Given the description of an element on the screen output the (x, y) to click on. 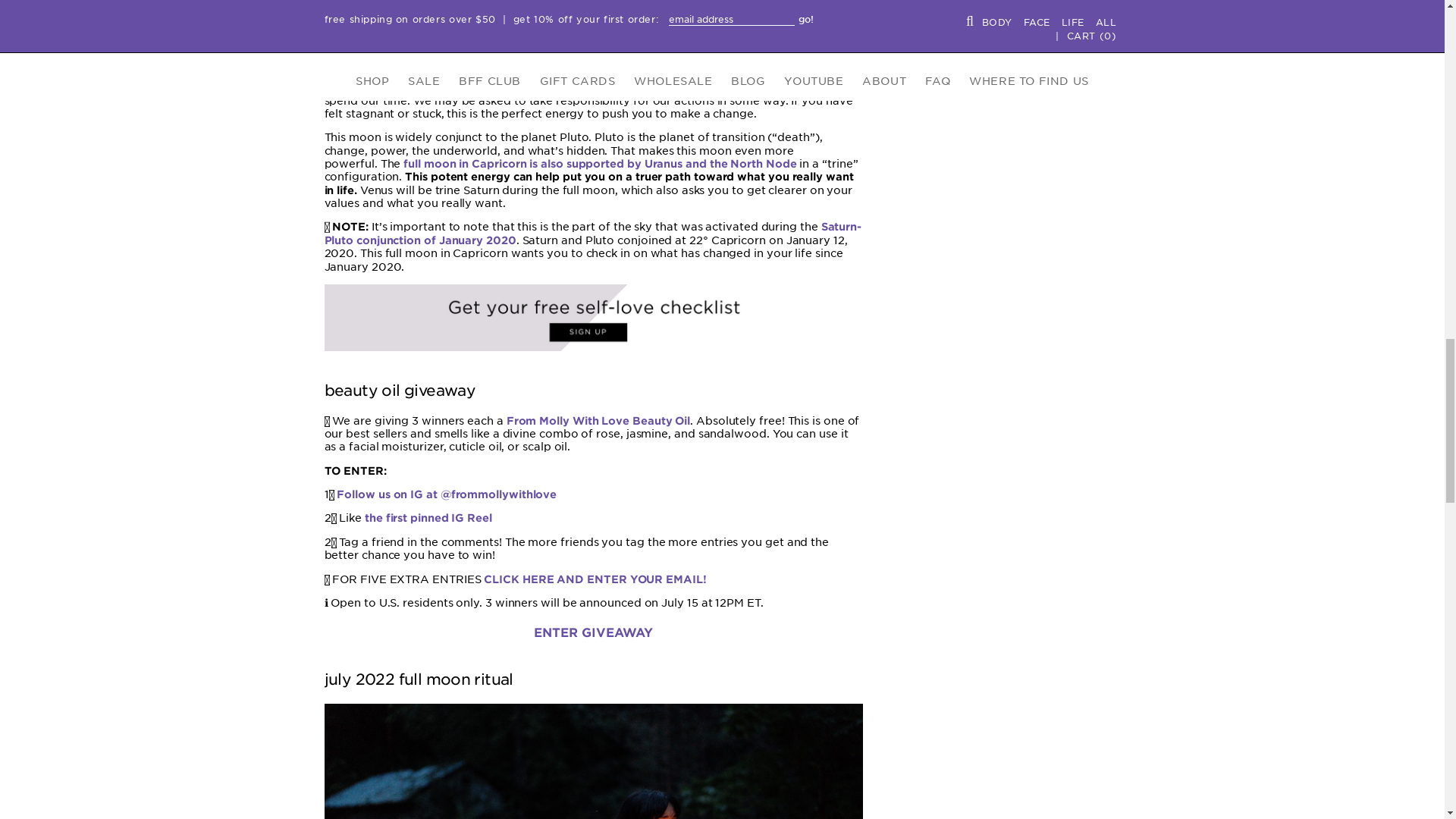
Saturn-Pluto conjunction of January 2020 (592, 232)
the first pinned IG Reel (428, 517)
ENTER GIVEAWAY (593, 632)
CLICK HERE AND ENTER YOUR EMAIL! (594, 579)
From Molly With Love Beauty Oil (598, 420)
